Given the description of an element on the screen output the (x, y) to click on. 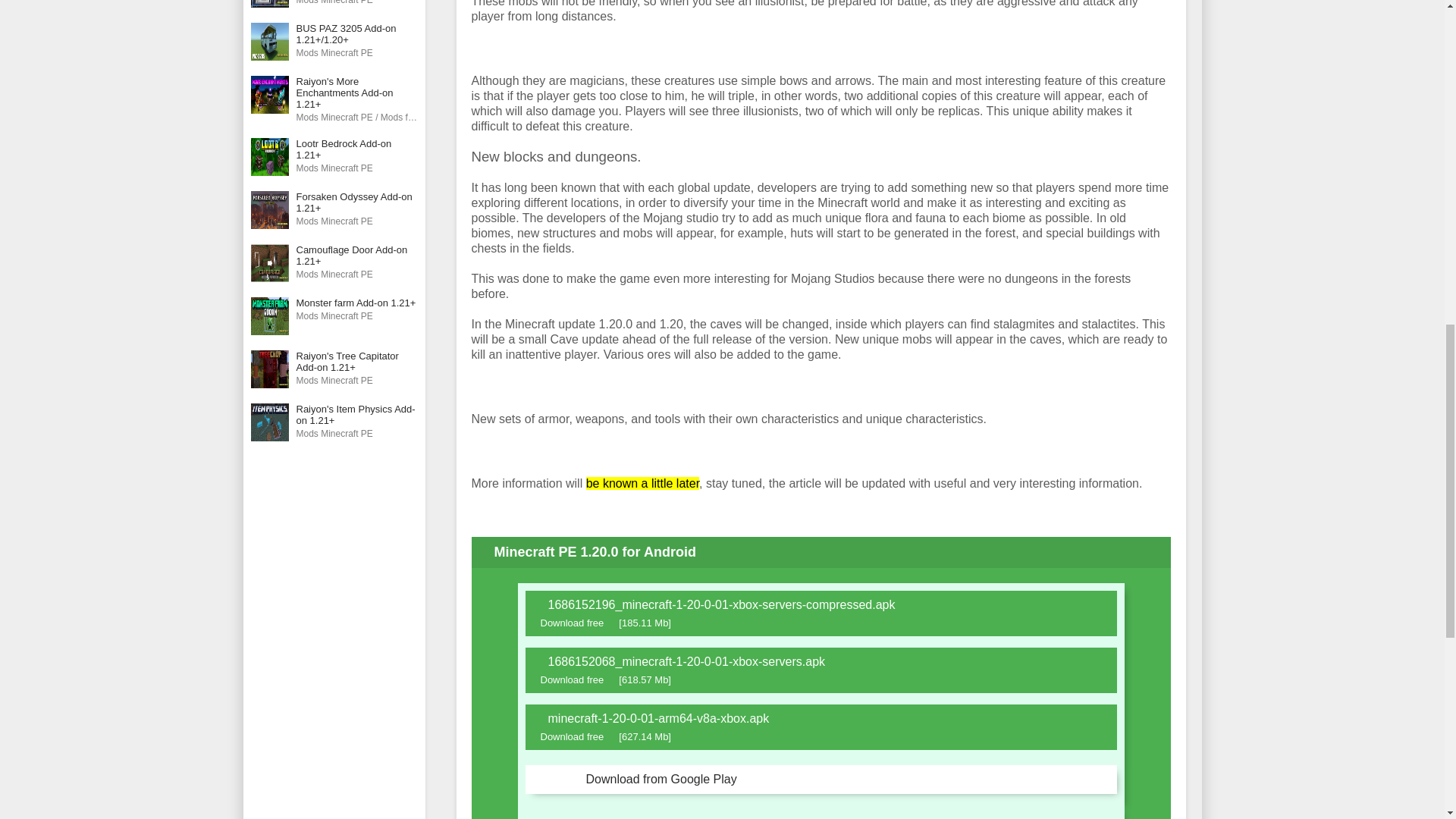
Download from Google Play (820, 778)
